Given the description of an element on the screen output the (x, y) to click on. 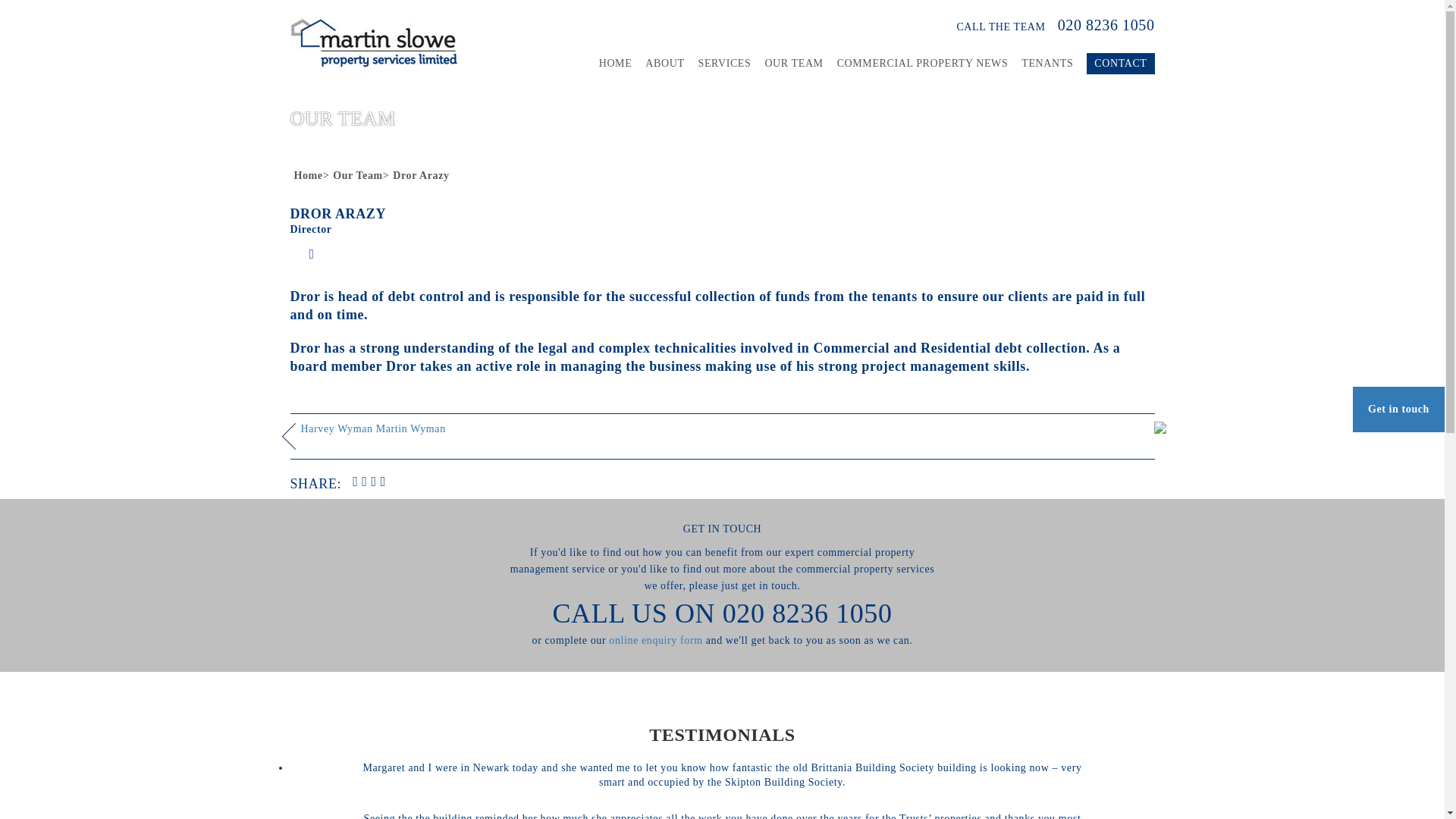
Martin Wyman (410, 428)
ABOUT (664, 63)
COMMERCIAL PROPERTY NEWS (923, 63)
Our Team (357, 174)
CONTACT (1120, 63)
SERVICES (724, 63)
OUR TEAM (793, 63)
020 8236 1050 (1101, 24)
Dror Arazy (420, 174)
online enquiry form (654, 640)
020 8236 1050 (807, 613)
TENANTS (1047, 63)
Home (308, 174)
HOME (614, 63)
Harvey Wyman (335, 428)
